Given the description of an element on the screen output the (x, y) to click on. 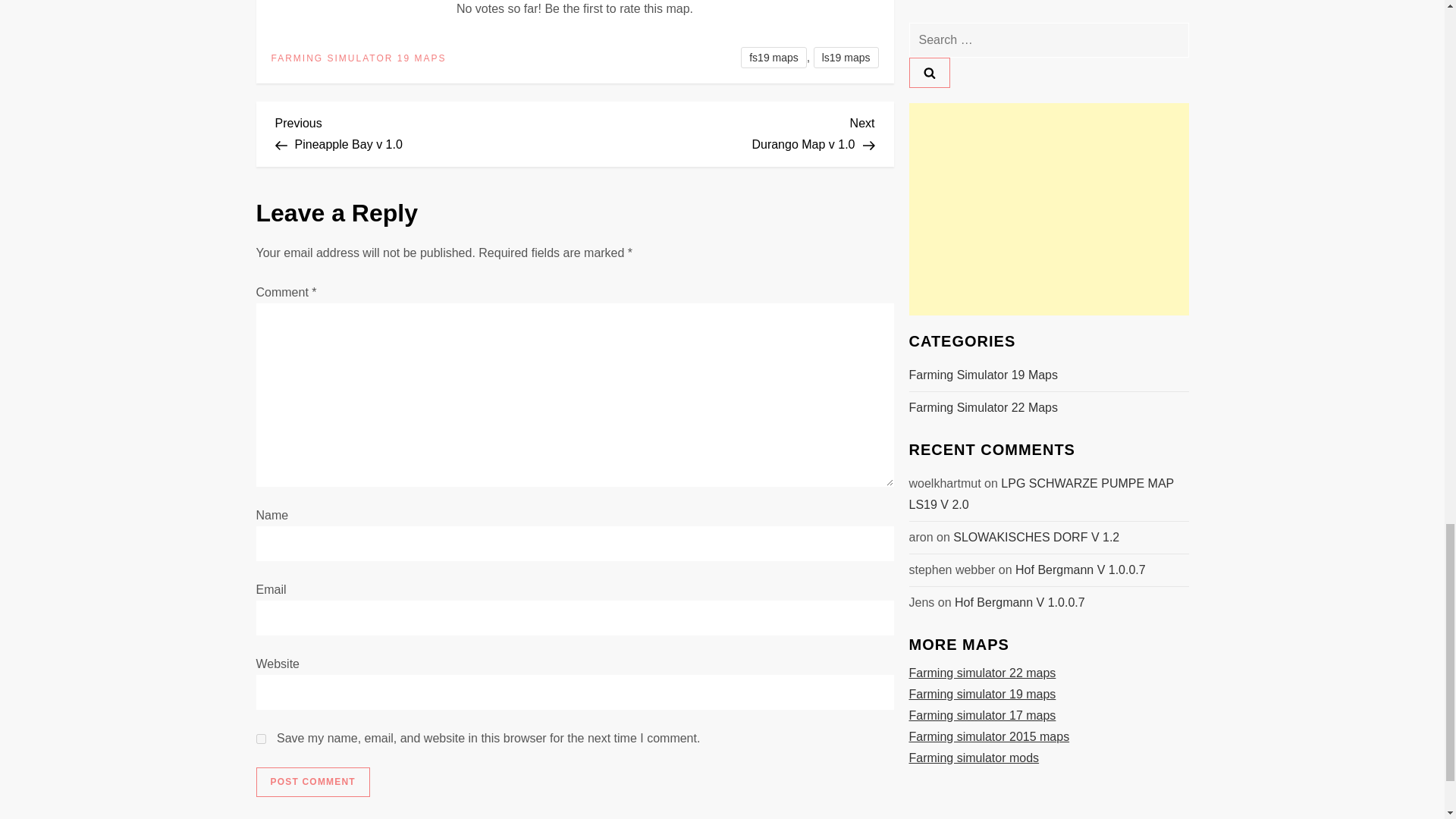
yes (261, 738)
ls19 maps (425, 131)
Post Comment (846, 56)
Post Comment (312, 782)
FARMING SIMULATOR 19 MAPS (312, 782)
fs19 maps (725, 131)
